Given the description of an element on the screen output the (x, y) to click on. 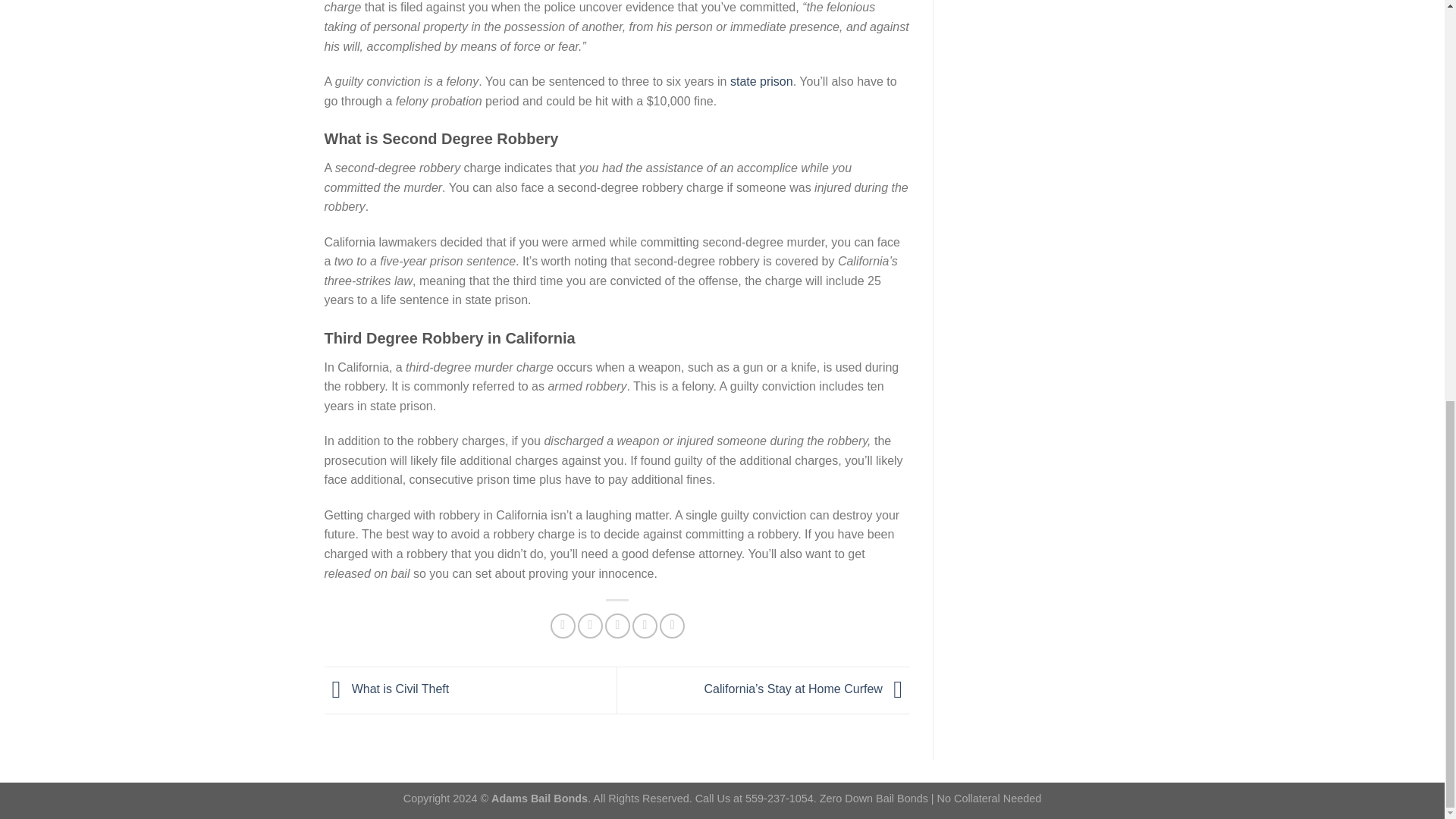
Pin on Pinterest (644, 625)
Share on LinkedIn (671, 625)
What is Civil Theft (386, 689)
state prison (761, 81)
Share on Twitter (590, 625)
Share on Facebook (562, 625)
Email to a Friend (617, 625)
Do You Know The Difference between Jail and Prison? (761, 81)
